Given the description of an element on the screen output the (x, y) to click on. 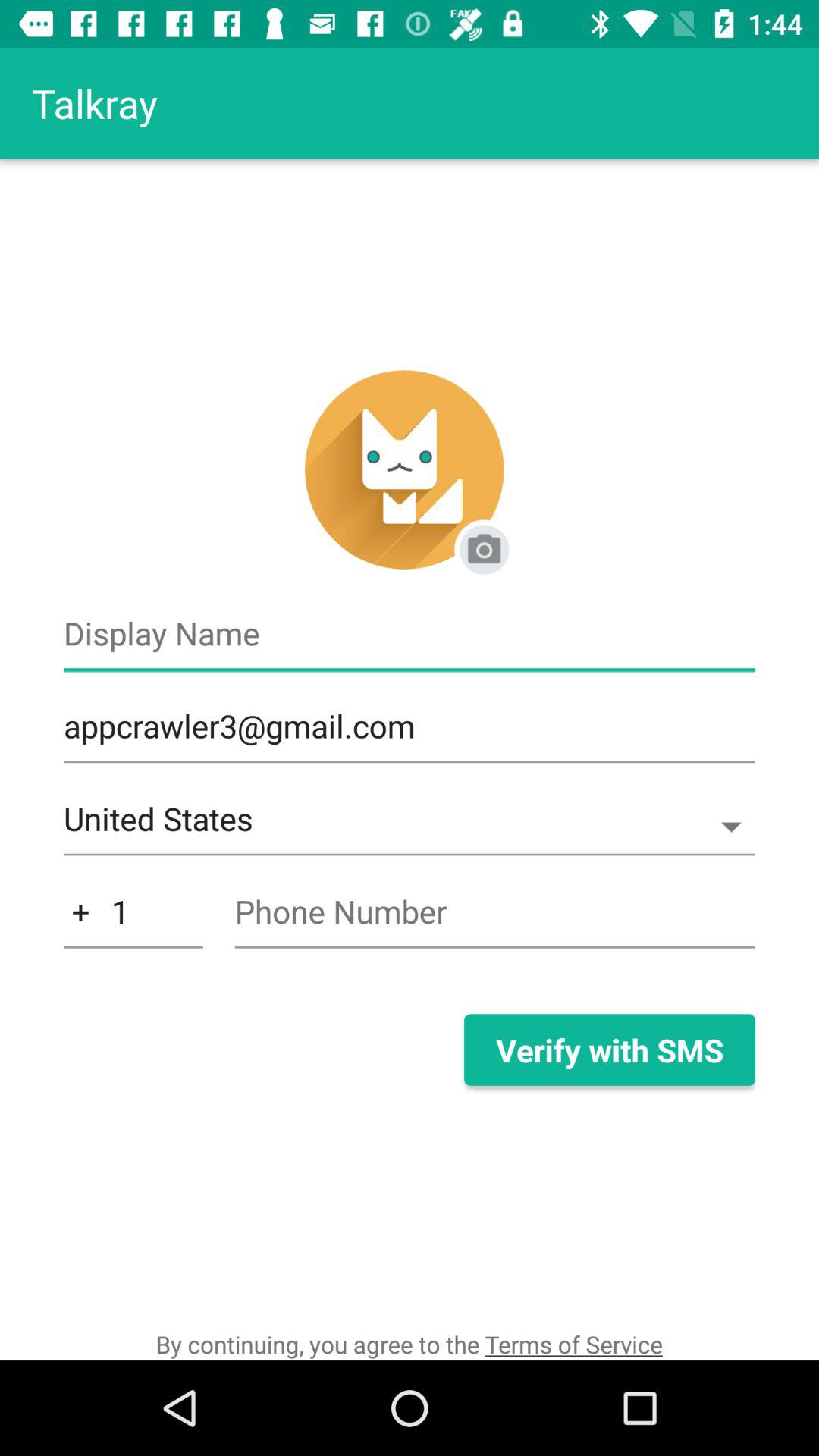
scroll to appcrawler3@gmail.com (409, 734)
